Given the description of an element on the screen output the (x, y) to click on. 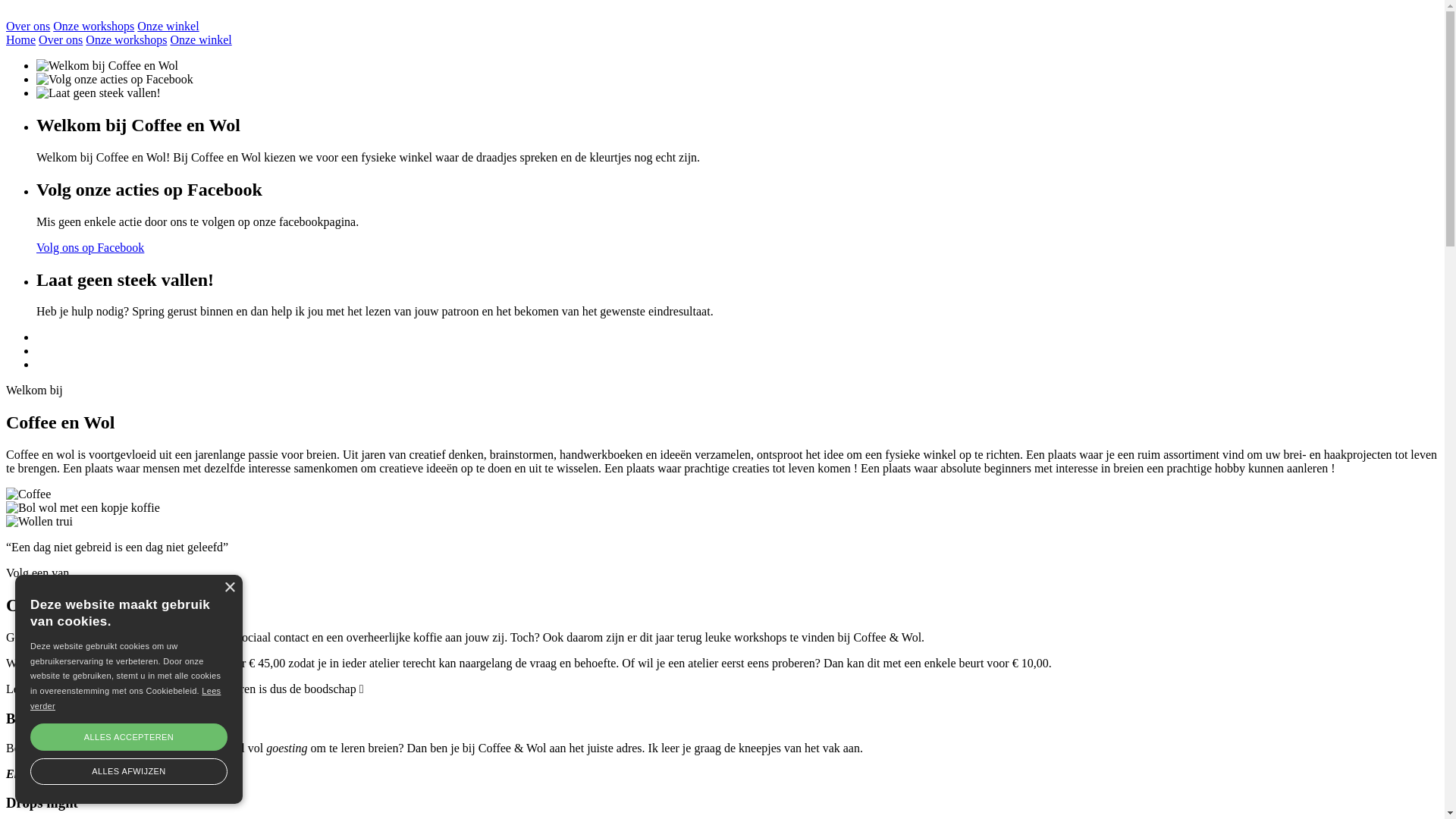
Onze winkel Element type: text (200, 39)
Onze winkel Element type: text (167, 25)
Over ons Element type: text (28, 25)
Onze workshops Element type: text (125, 39)
Over ons Element type: text (60, 39)
Lees verder Element type: text (125, 698)
Home Element type: text (20, 39)
Volg ons op Facebook Element type: text (90, 247)
Onze workshops Element type: text (93, 25)
